Given the description of an element on the screen output the (x, y) to click on. 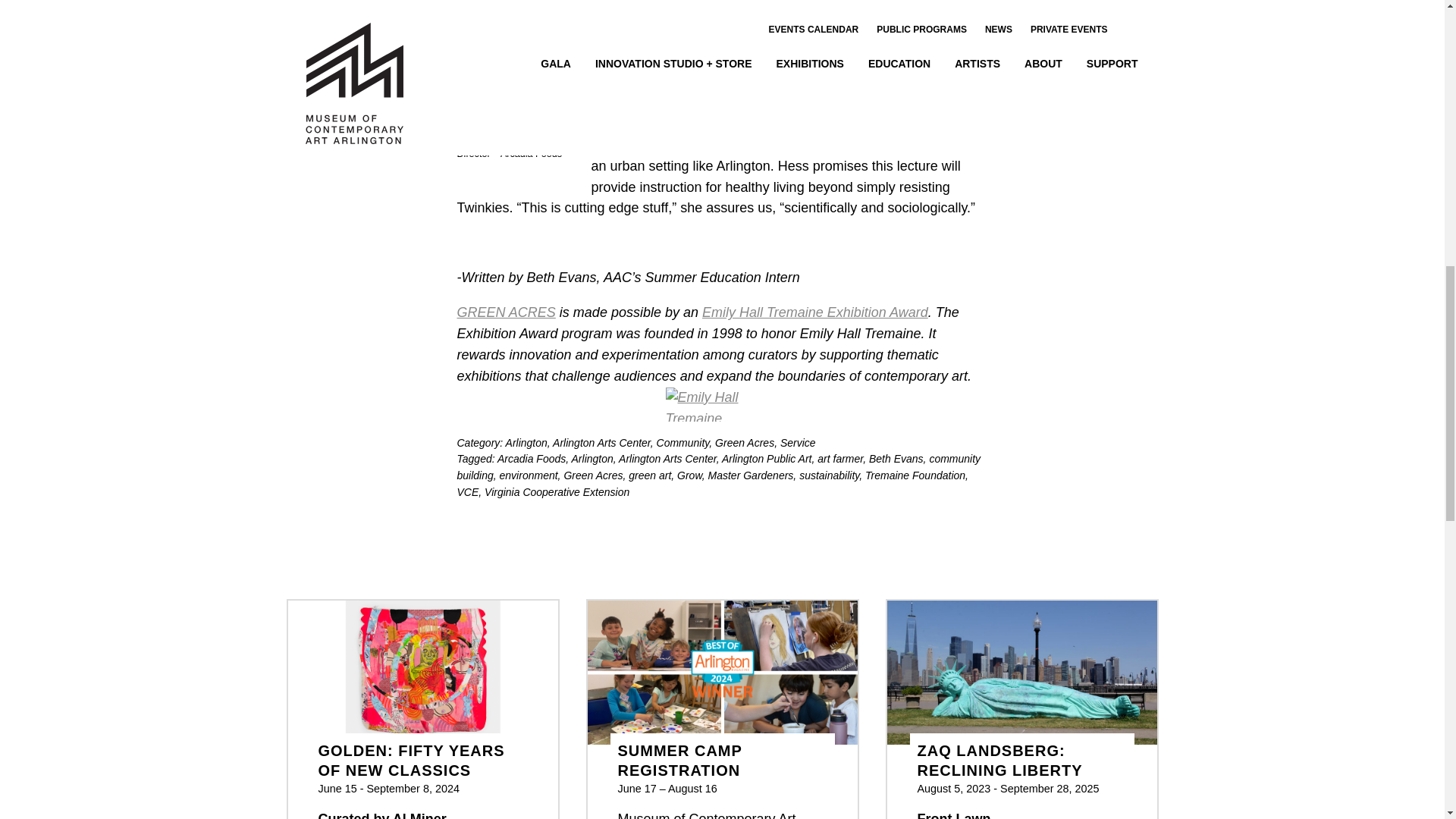
Tremaine Foundation (814, 312)
GREEN ACRES (505, 312)
GREEN ACRES (666, 24)
Tremaine Foundation (722, 413)
